Given the description of an element on the screen output the (x, y) to click on. 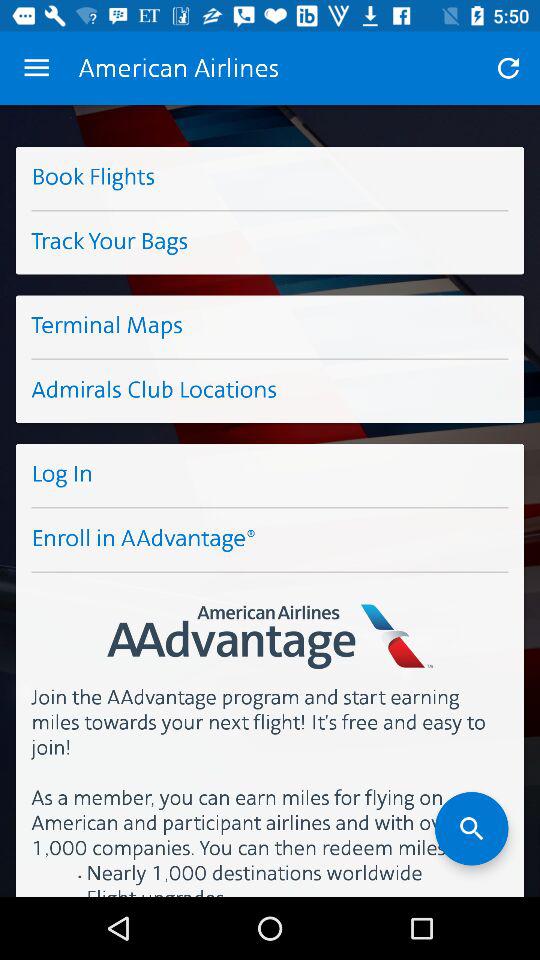
turn off icon below the admirals club locations (269, 475)
